Given the description of an element on the screen output the (x, y) to click on. 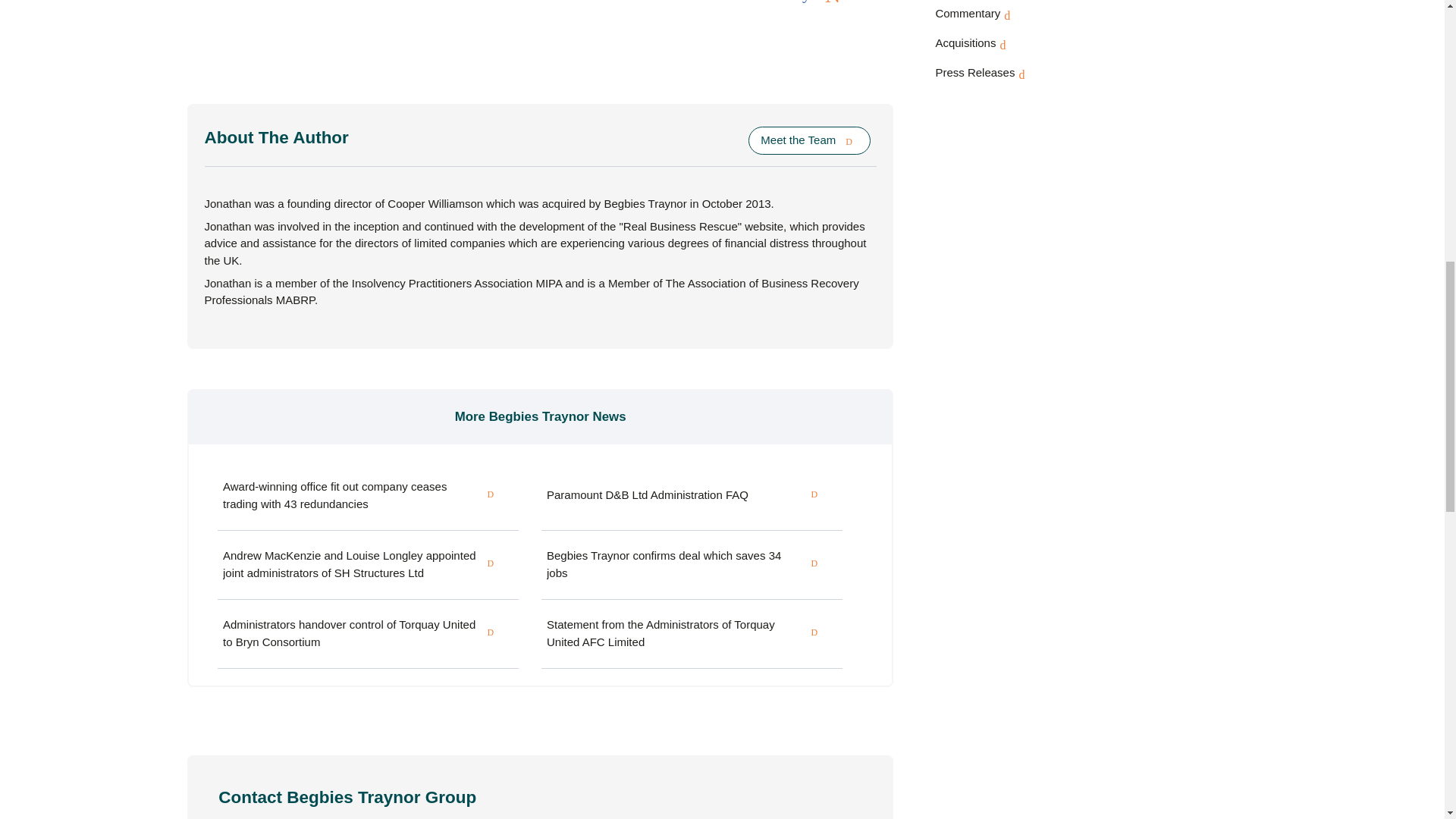
Share via X (832, 4)
Share via Facebook (806, 4)
Share via LinkedIn (856, 4)
